Given the description of an element on the screen output the (x, y) to click on. 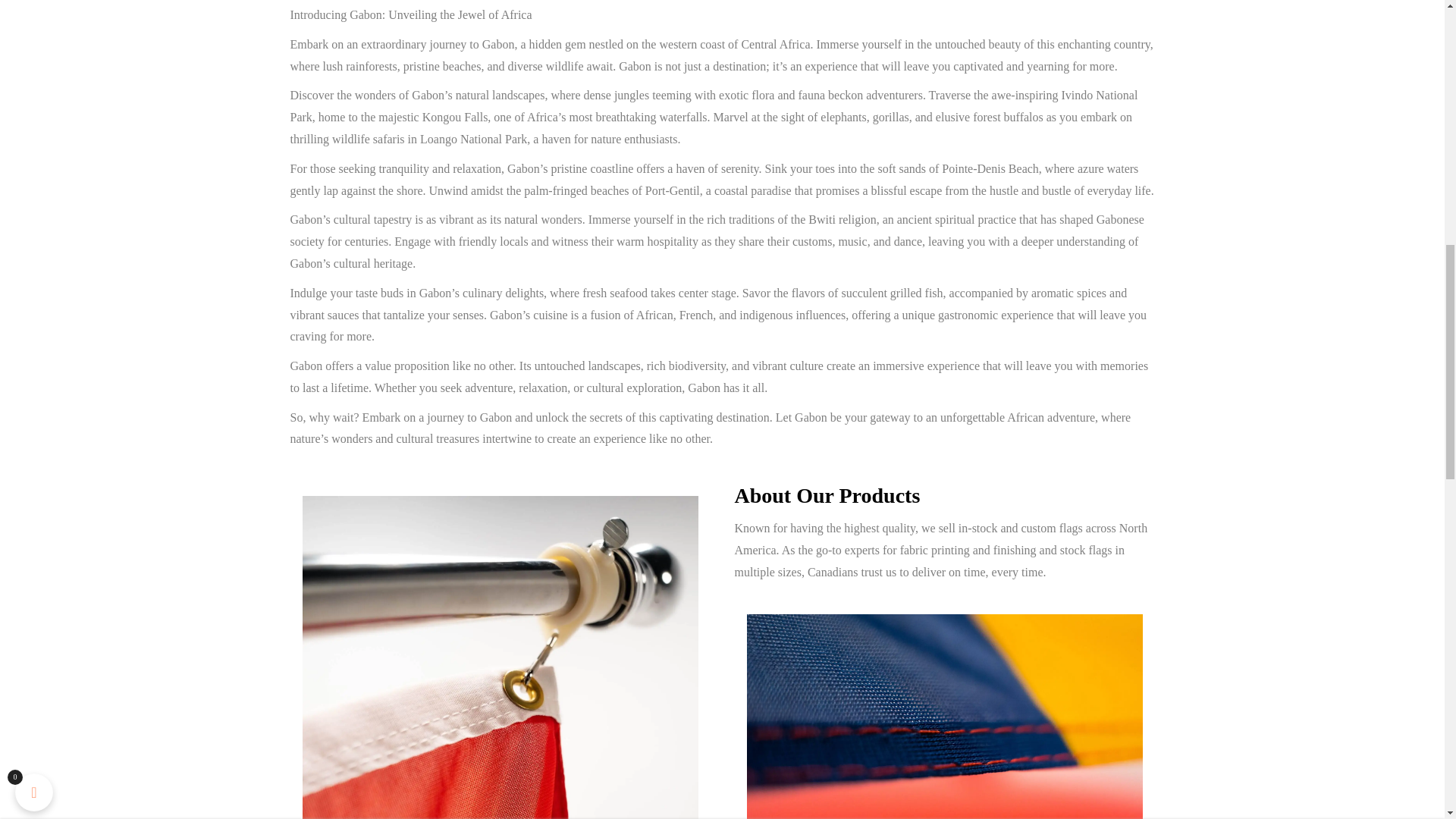
Qty (1078, 26)
1 (1078, 26)
DSC03869 (943, 716)
